Given the description of an element on the screen output the (x, y) to click on. 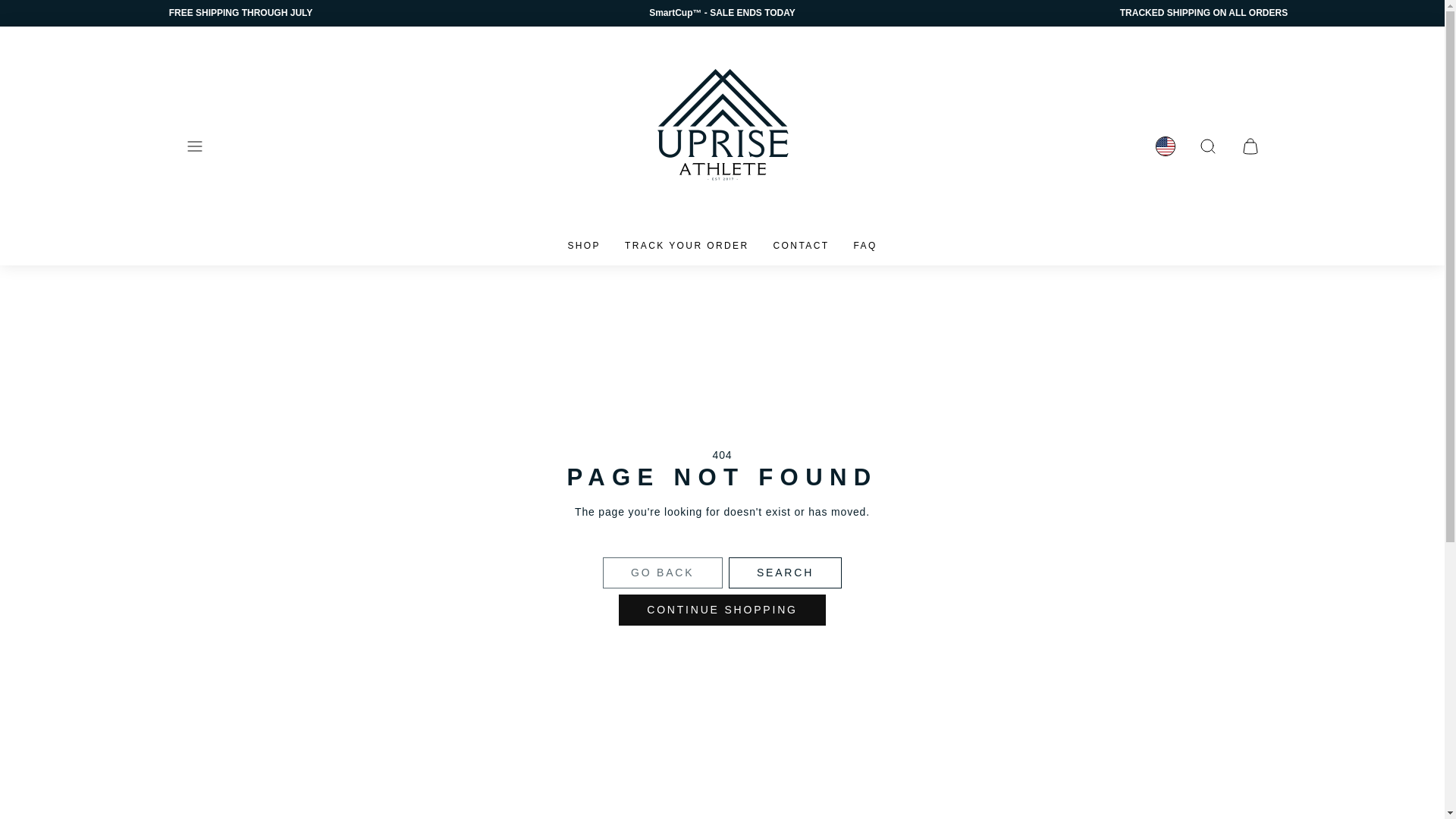
GO BACK (662, 572)
SEARCH (1207, 145)
FAQ (864, 245)
TRACK YOUR ORDER (686, 245)
SEARCH (784, 572)
CONTINUE SHOPPING (721, 609)
MENU (194, 145)
CONTACT (801, 245)
SHOP (583, 245)
